Given the description of an element on the screen output the (x, y) to click on. 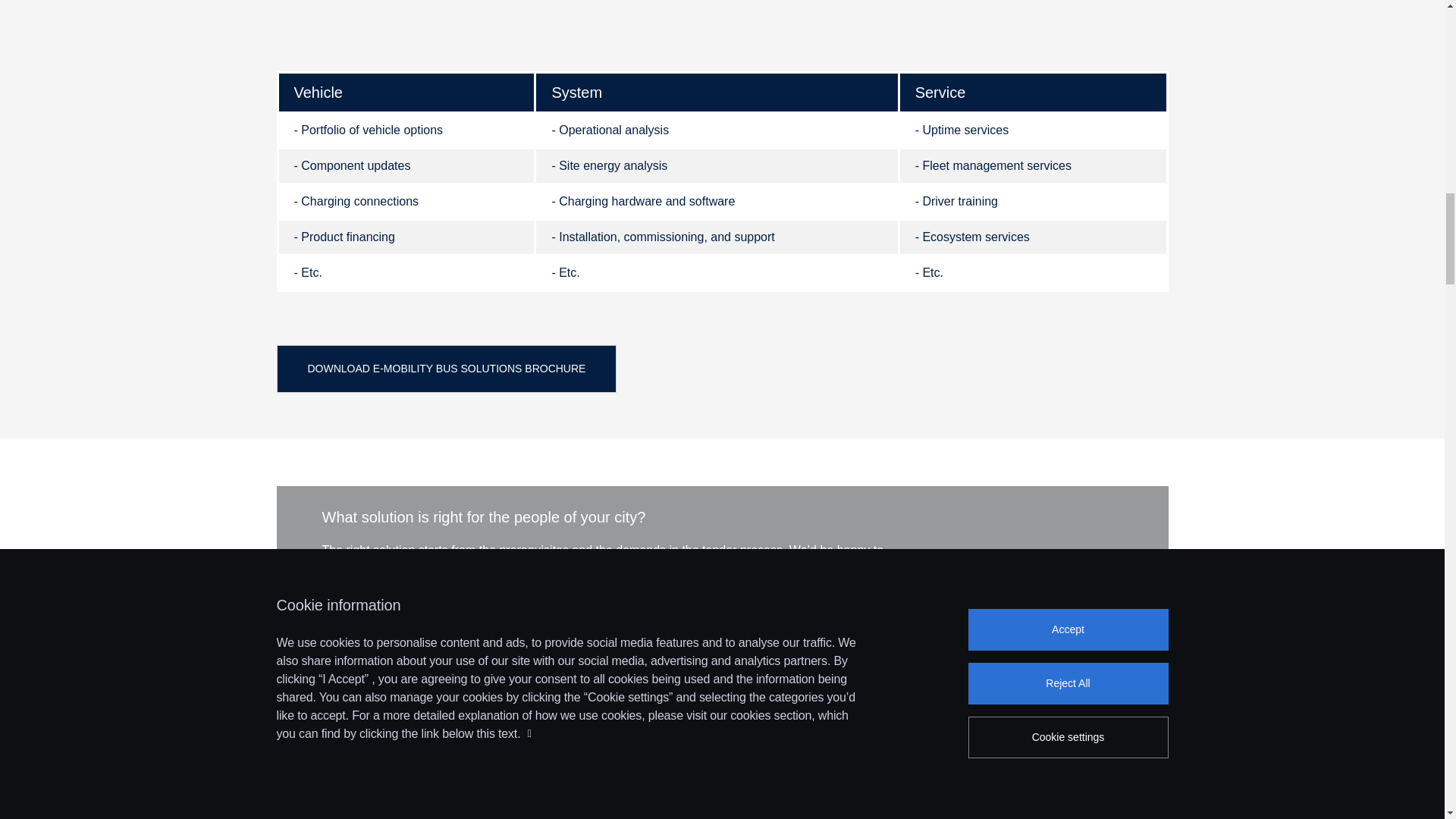
Download e-mobility bus solutions brochure (445, 368)
What solution is right for the people of your city? (621, 517)
